Given the description of an element on the screen output the (x, y) to click on. 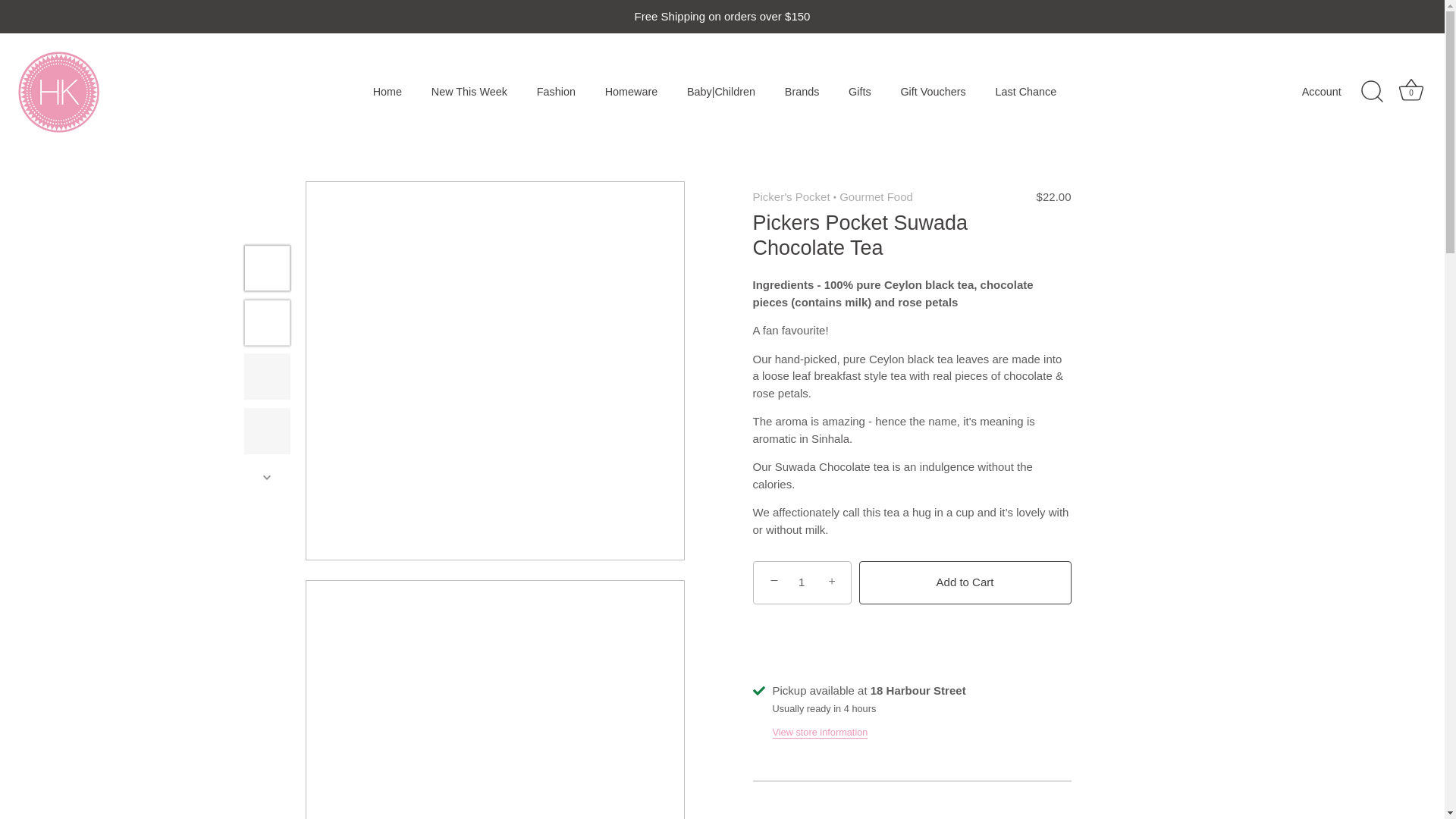
Homeware (630, 91)
Home (386, 91)
Fashion (555, 91)
Basket (1410, 90)
New This Week (470, 91)
